Given the description of an element on the screen output the (x, y) to click on. 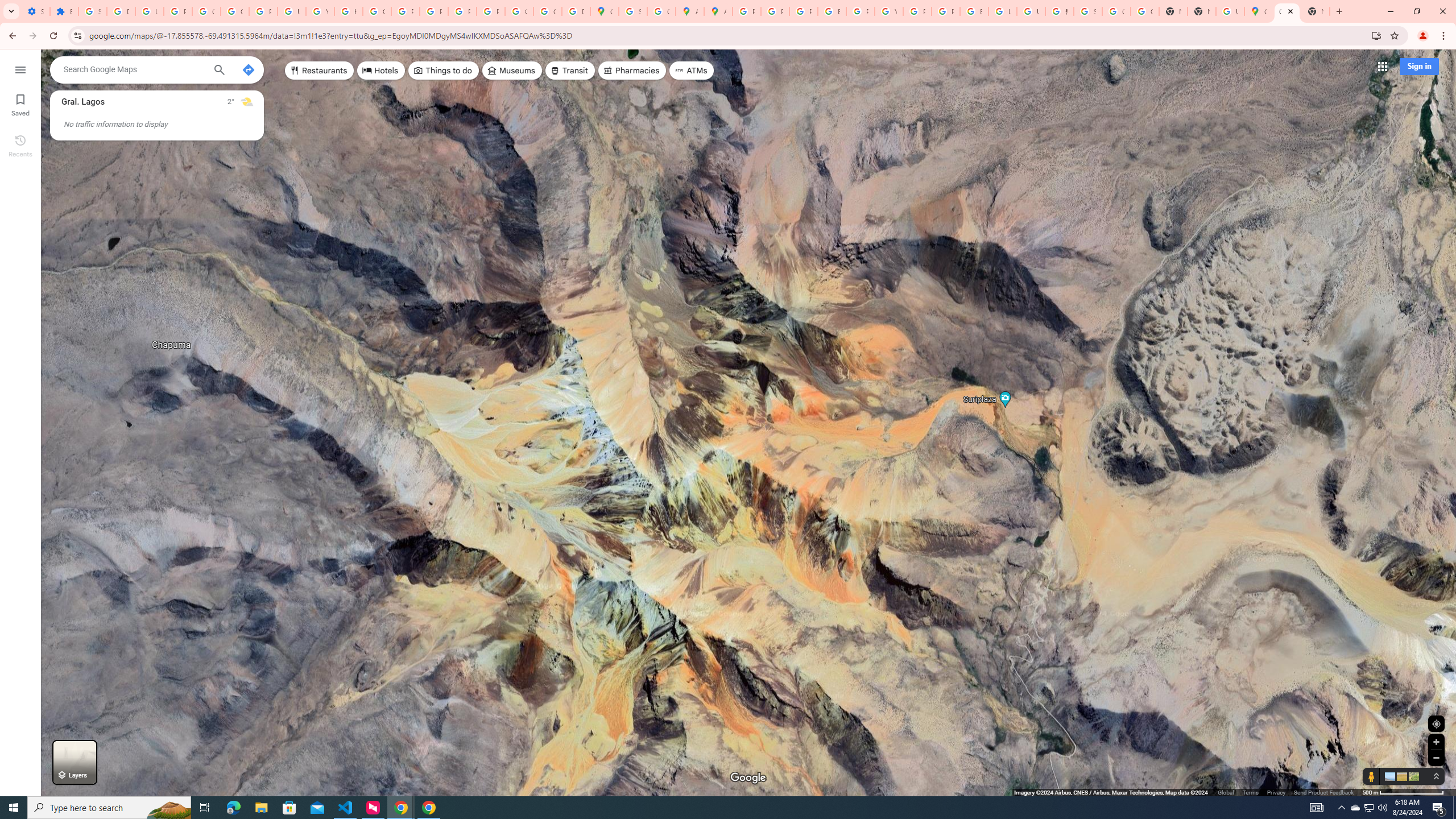
Sign in - Google Accounts (1088, 11)
YouTube (888, 11)
Global (1225, 792)
ATMs (691, 70)
Google Account Help (206, 11)
Recents (20, 145)
Settings - On startup (35, 11)
Privacy Help Center - Policies Help (803, 11)
Learn how to find your photos - Google Photos Help (148, 11)
